Given the description of an element on the screen output the (x, y) to click on. 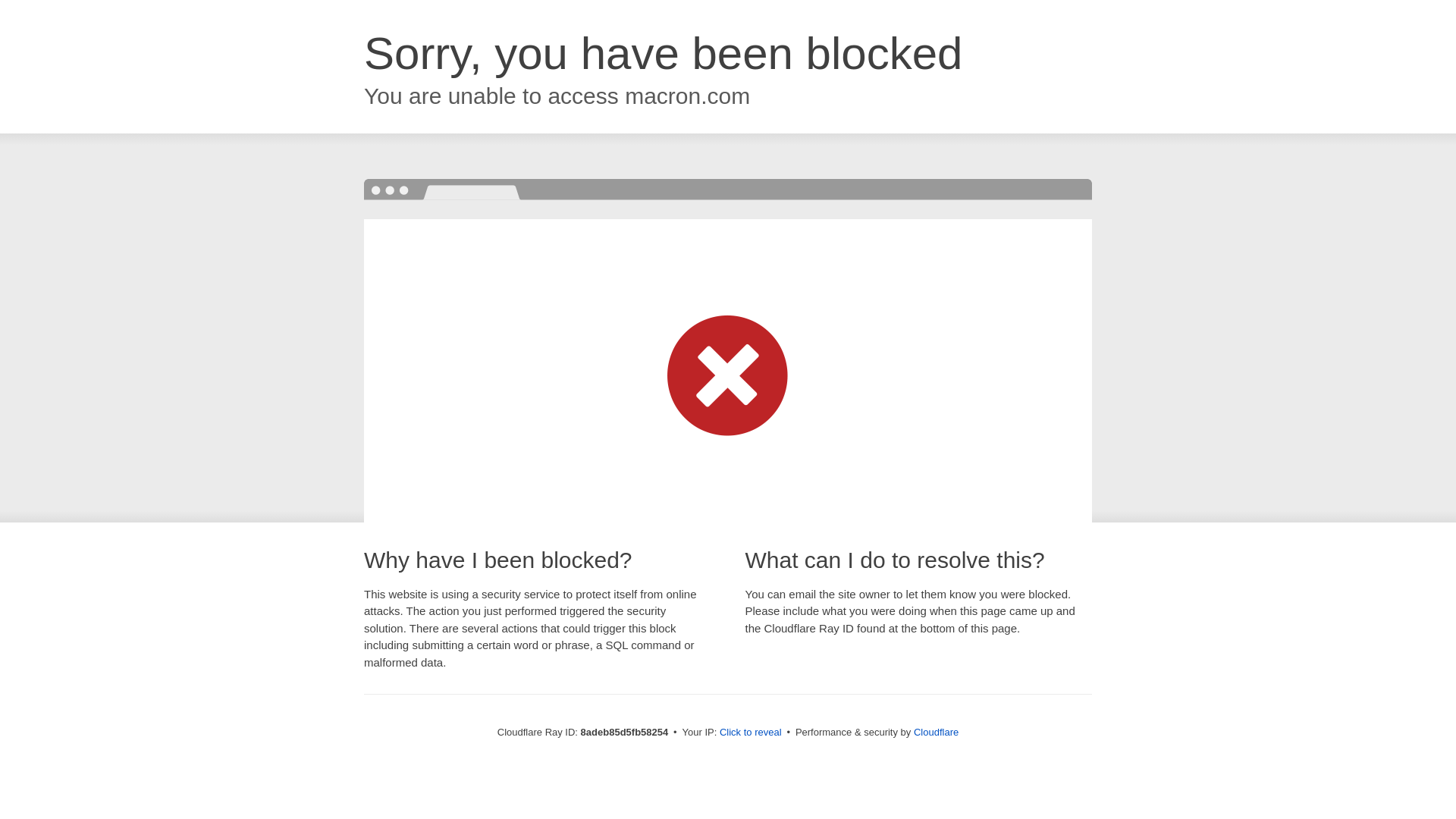
Cloudflare (936, 731)
Click to reveal (750, 732)
